Given the description of an element on the screen output the (x, y) to click on. 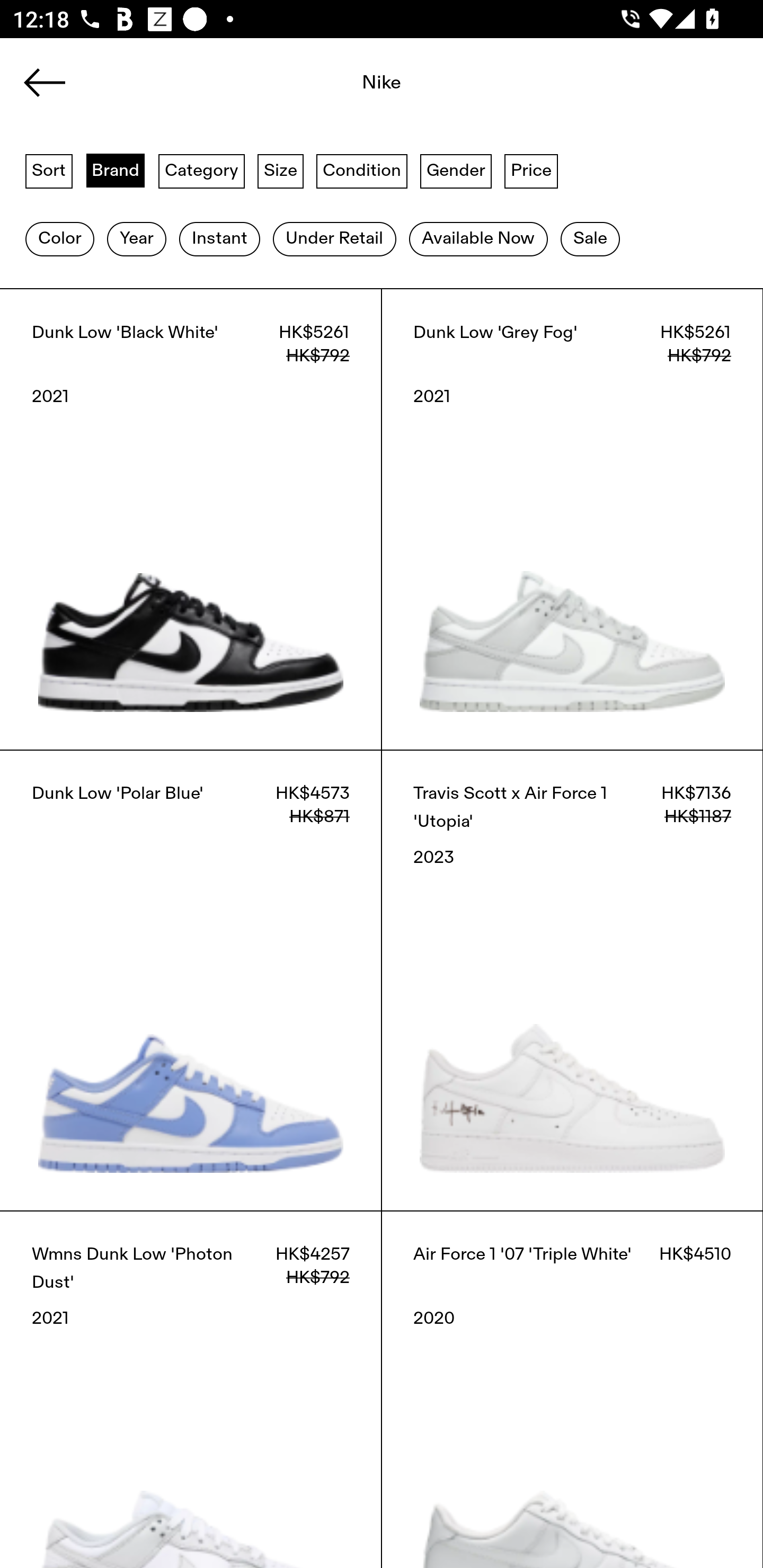
Sort (48, 170)
Brand (115, 170)
Category (201, 170)
Size (280, 170)
Condition (361, 170)
Gender (455, 170)
Price (530, 170)
Color (59, 239)
Year (136, 239)
Instant (219, 239)
Under Retail (334, 239)
Available Now (477, 239)
Sale (589, 239)
Dunk Low 'Black White' HK$5261 HK$792 2021 (190, 518)
Dunk Low 'Grey Fog' HK$5261 HK$792 2021 (572, 518)
Dunk Low 'Polar Blue' HK$4573 HK$871 (190, 979)
Wmns Dunk Low 'Photon Dust' HK$4257 HK$792 2021 (190, 1389)
Air Force 1 '07 'Triple White' HK$4510 2020 (572, 1389)
